Given the description of an element on the screen output the (x, y) to click on. 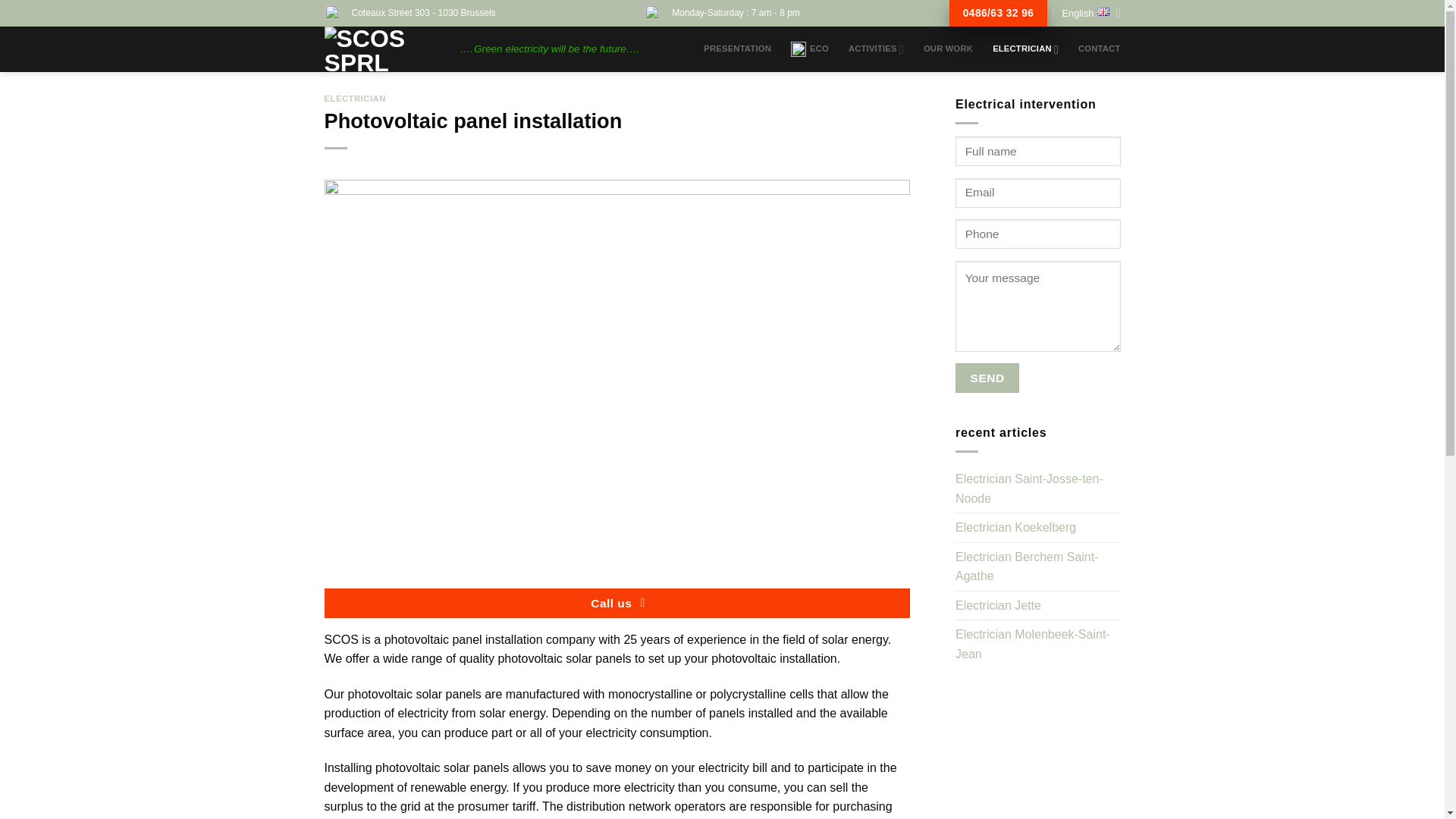
ECO (809, 49)
ELECTRICIAN (1025, 49)
English (1090, 13)
ACTIVITIES (876, 49)
PRESENTATION (737, 49)
OUR WORK (947, 49)
Send (987, 378)
